Given the description of an element on the screen output the (x, y) to click on. 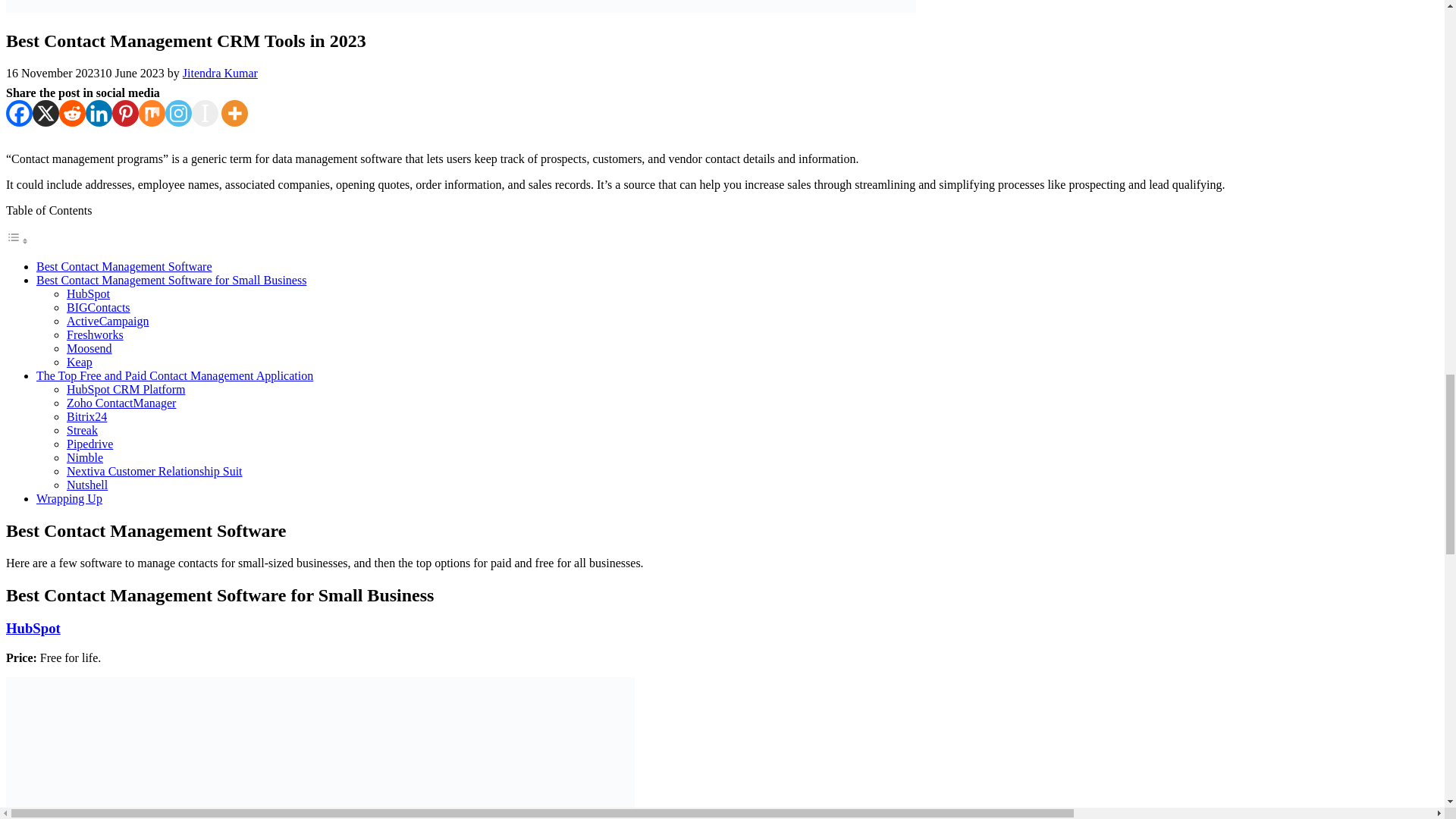
Freshworks (94, 334)
View all posts by Jitendra Kumar (220, 72)
Instapaper (205, 112)
Facebook (18, 112)
Linkedin (98, 112)
Best Contact Management Software (124, 266)
ActiveCampaign (107, 320)
Instagram (178, 112)
Mix (151, 112)
Best Contact Management Software (124, 266)
Best Contact Management Software for Small Business (170, 279)
Reddit (72, 112)
X (45, 112)
Jitendra Kumar (220, 72)
More (234, 112)
